Given the description of an element on the screen output the (x, y) to click on. 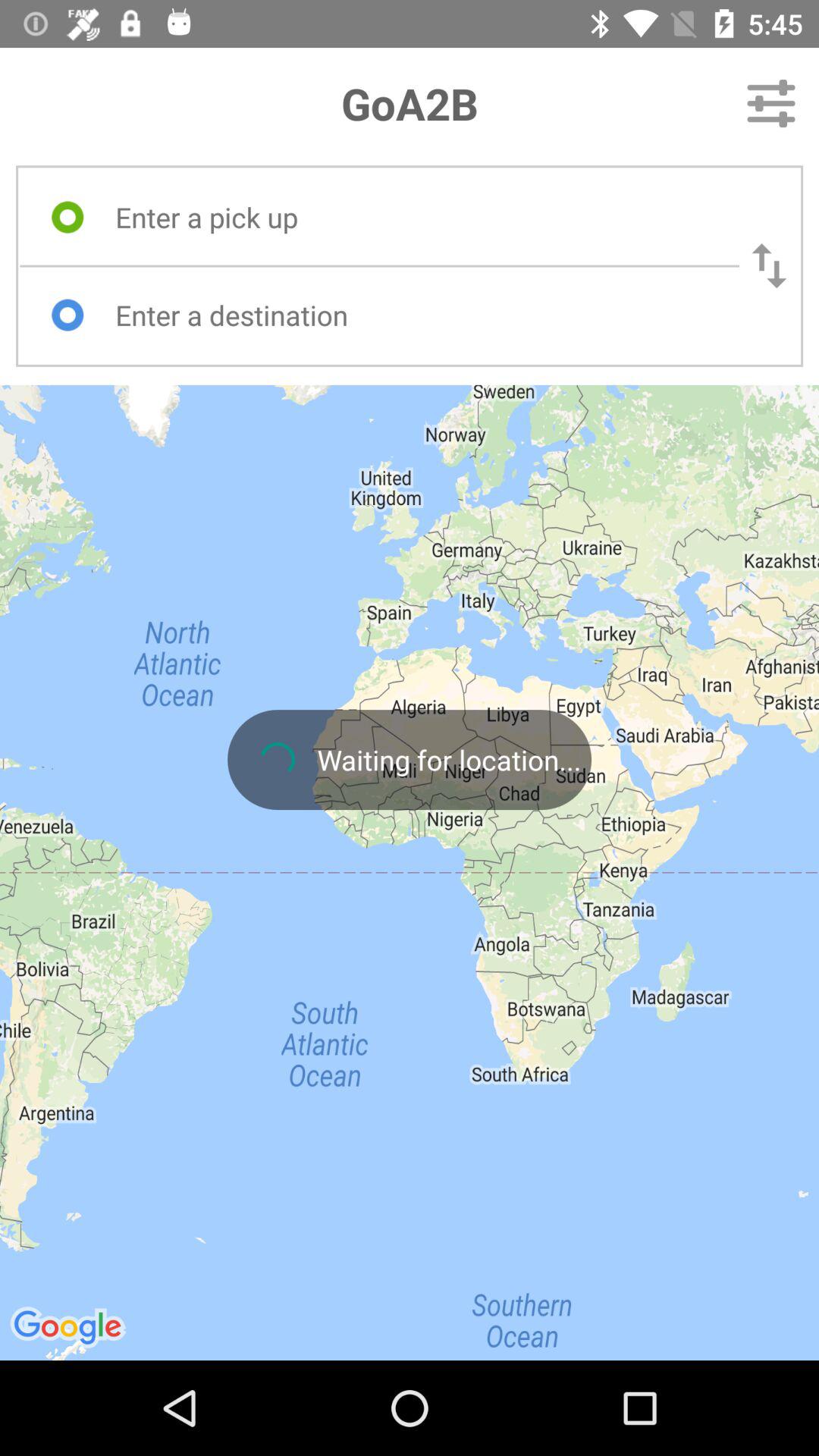
type in pick up location (413, 216)
